Given the description of an element on the screen output the (x, y) to click on. 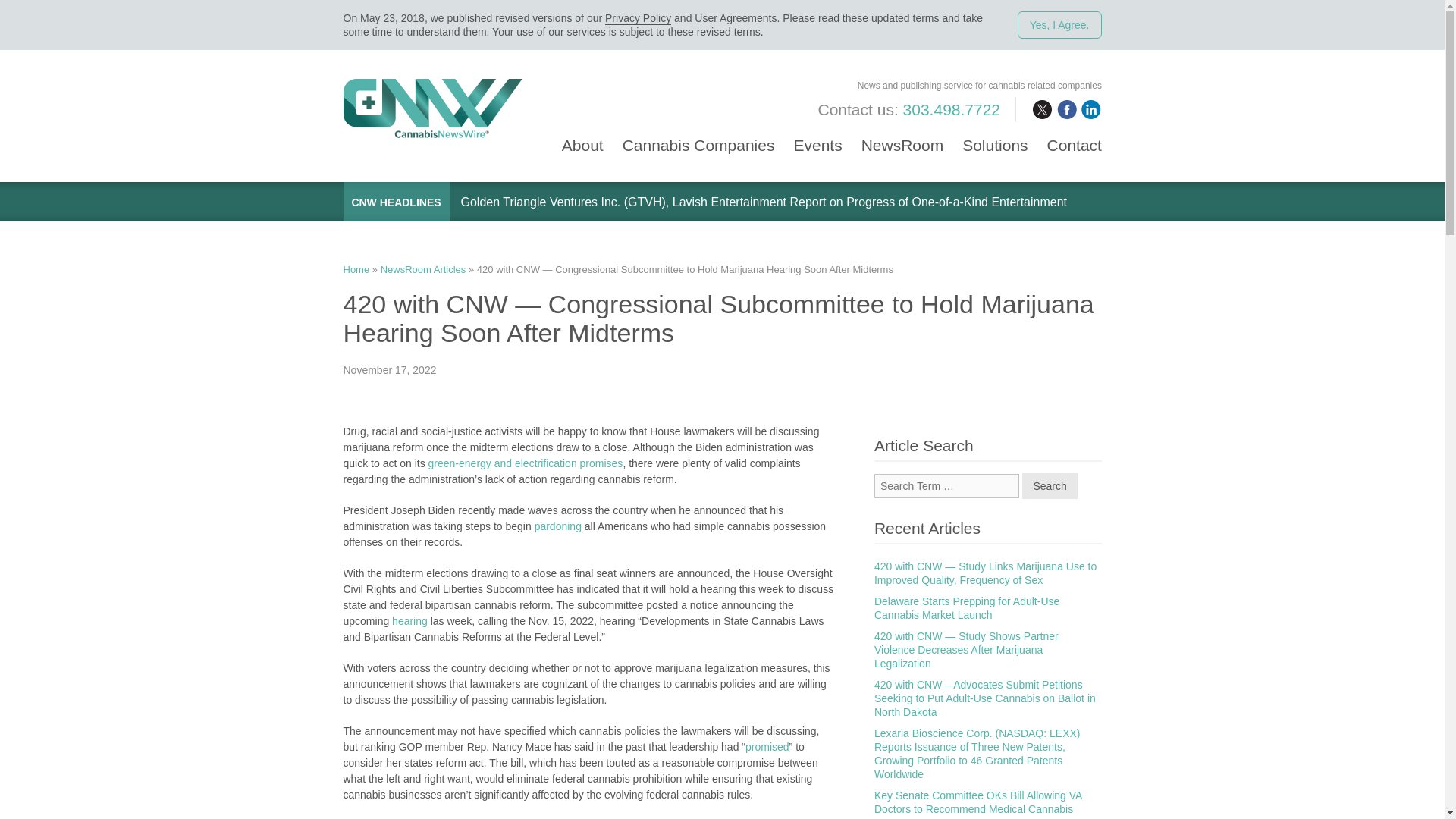
promised (767, 746)
Contact (1074, 137)
Home (355, 269)
NewsRoom Articles (422, 269)
Events (817, 137)
CNW HEADLINES (395, 202)
facebook (1067, 109)
Privacy Policy (638, 18)
About (583, 137)
Cannabis Companies (698, 137)
Search (1049, 485)
Solutions (994, 137)
pardoning (558, 526)
green-energy and electrification promises (525, 463)
linkedin (1090, 109)
